Given the description of an element on the screen output the (x, y) to click on. 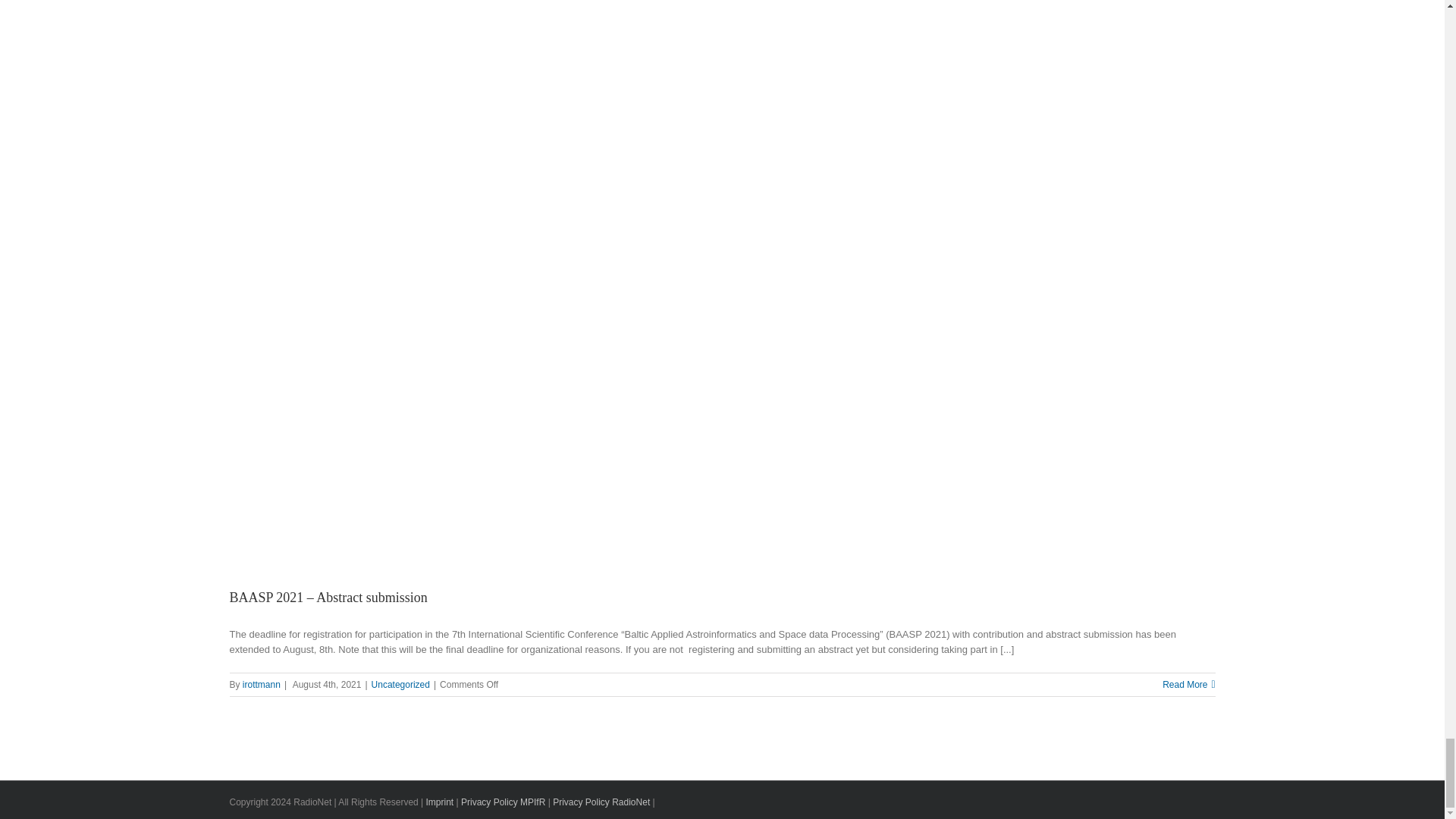
Posts by irottmann (262, 684)
